Given the description of an element on the screen output the (x, y) to click on. 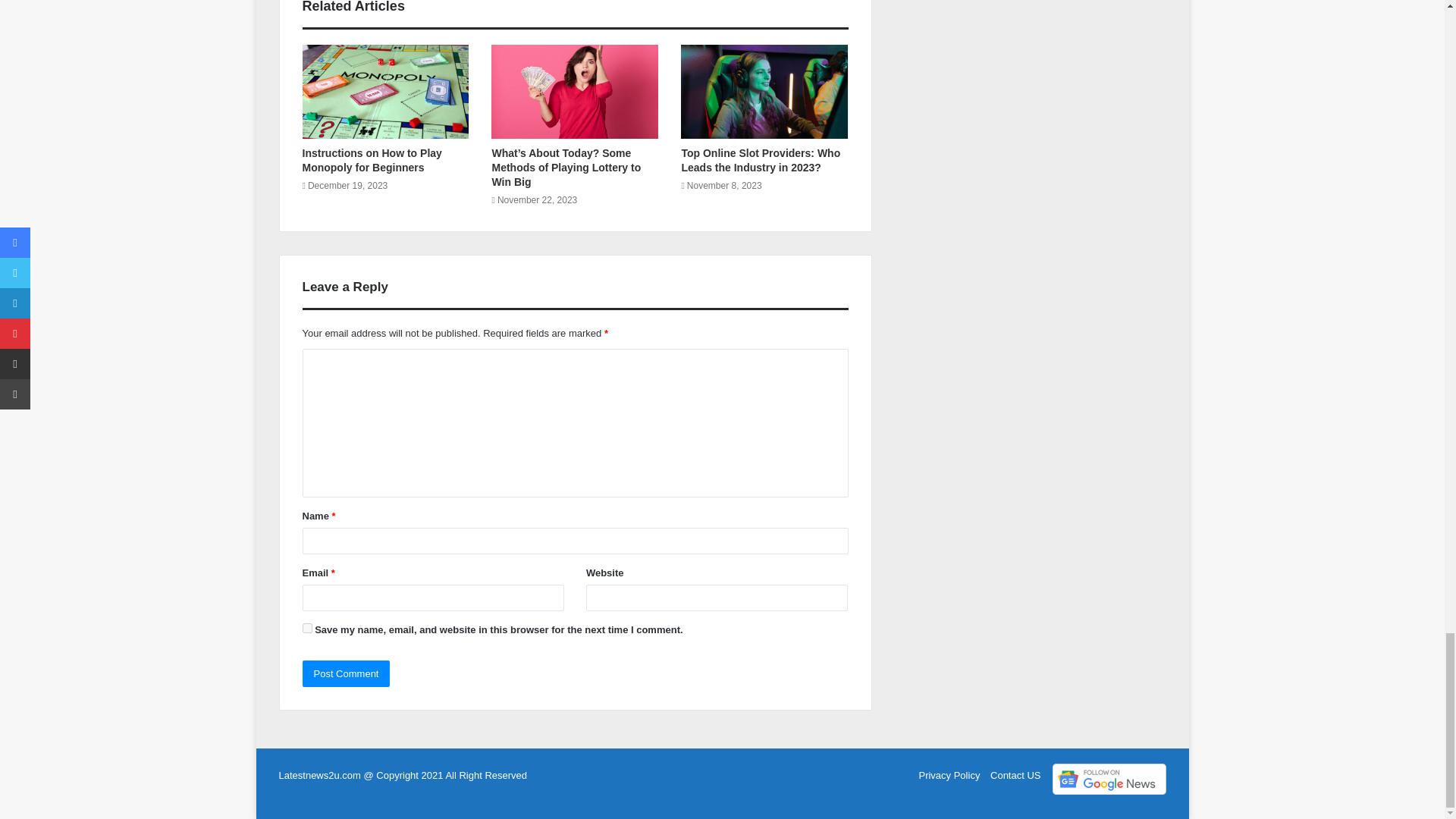
Post Comment (345, 673)
yes (306, 628)
